Given the description of an element on the screen output the (x, y) to click on. 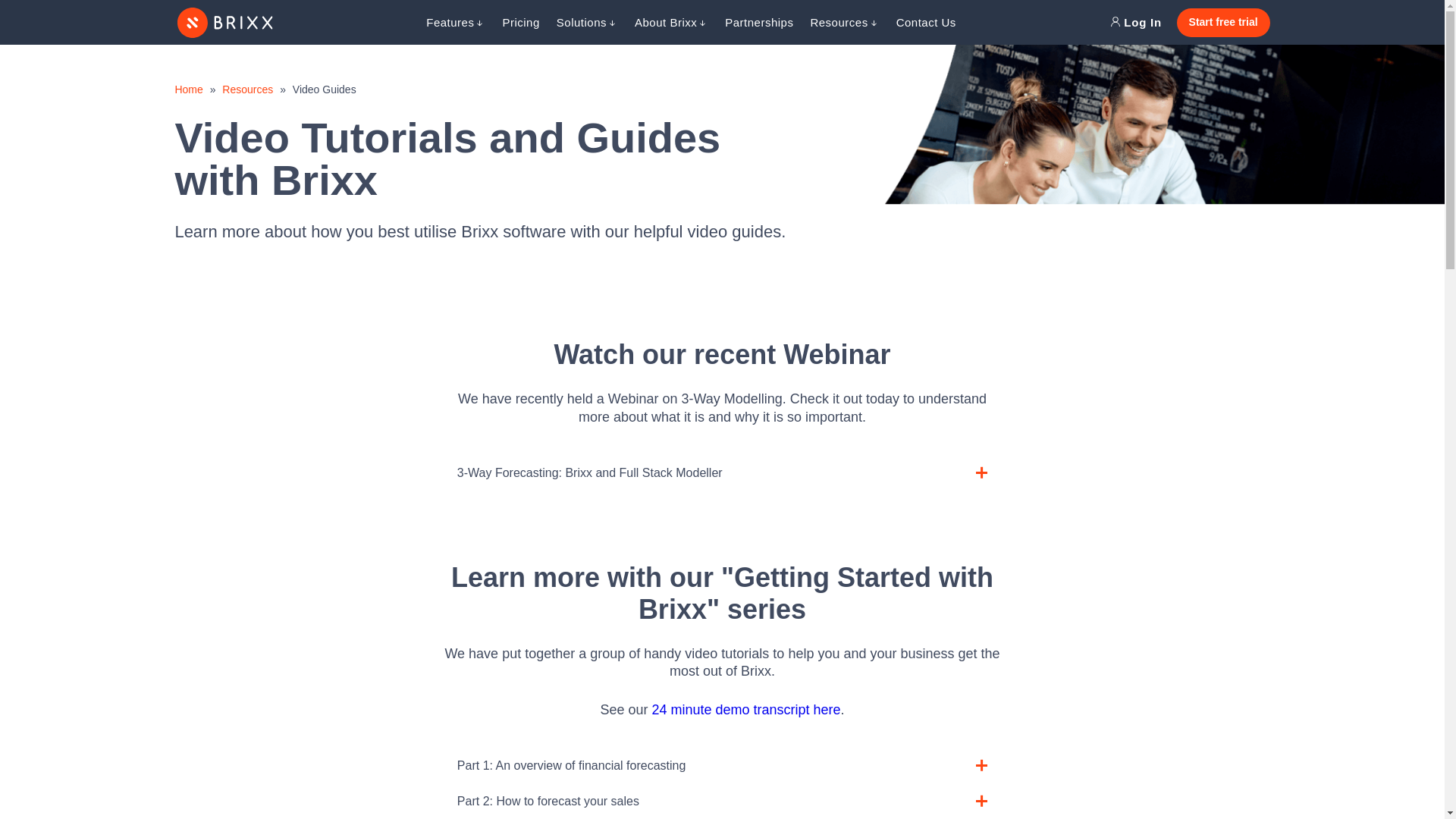
Pricing (520, 22)
Partnerships (759, 22)
Home (188, 89)
Features (455, 22)
About Brixx (670, 22)
24 minute demo transcript here (745, 709)
Resources (247, 89)
Solutions (586, 22)
Contact Us (926, 22)
Start free trial (1222, 22)
